Given the description of an element on the screen output the (x, y) to click on. 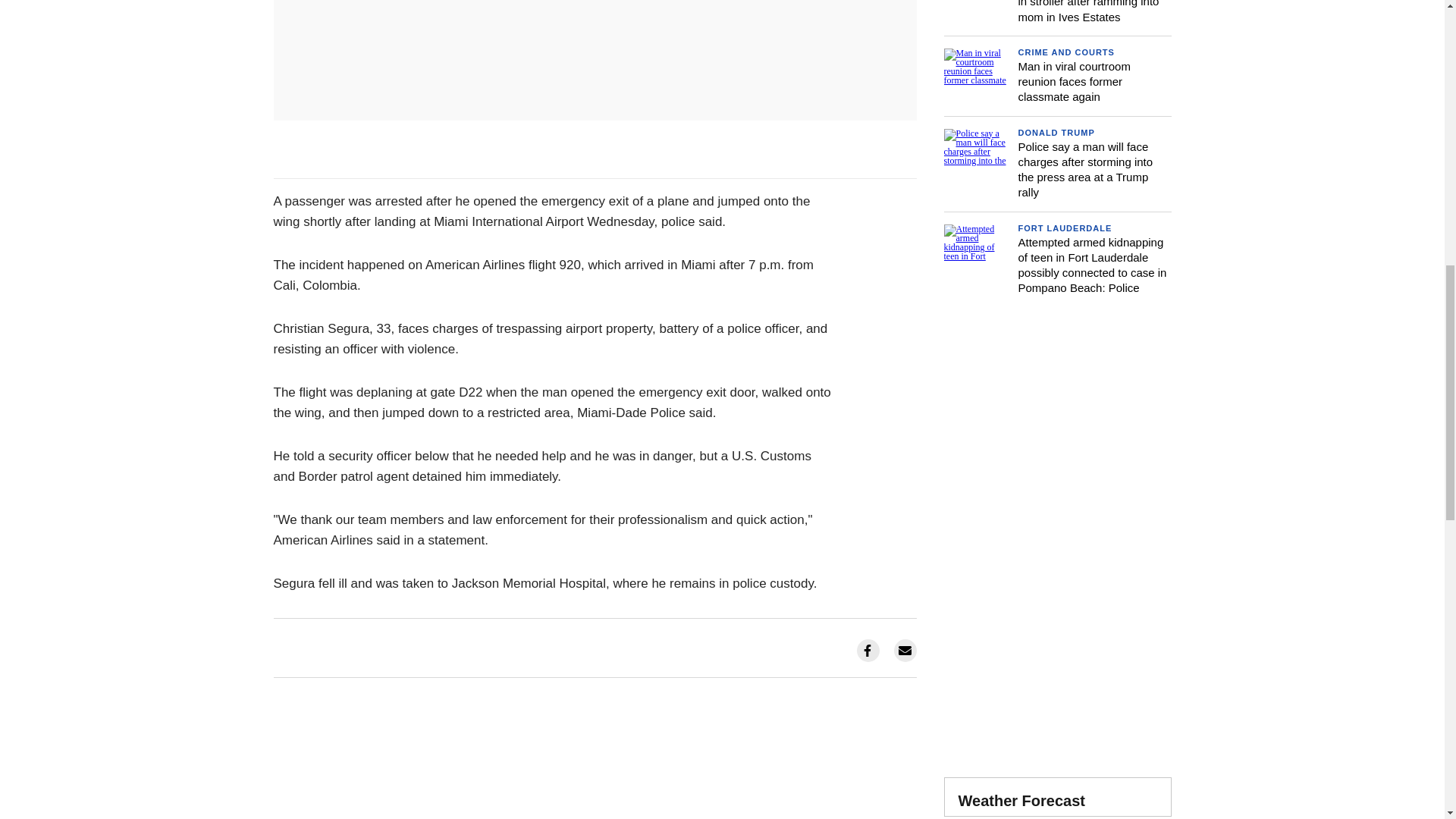
Man in viral courtroom reunion faces former classmate again (1073, 81)
CRIME AND COURTS (1065, 51)
